Given the description of an element on the screen output the (x, y) to click on. 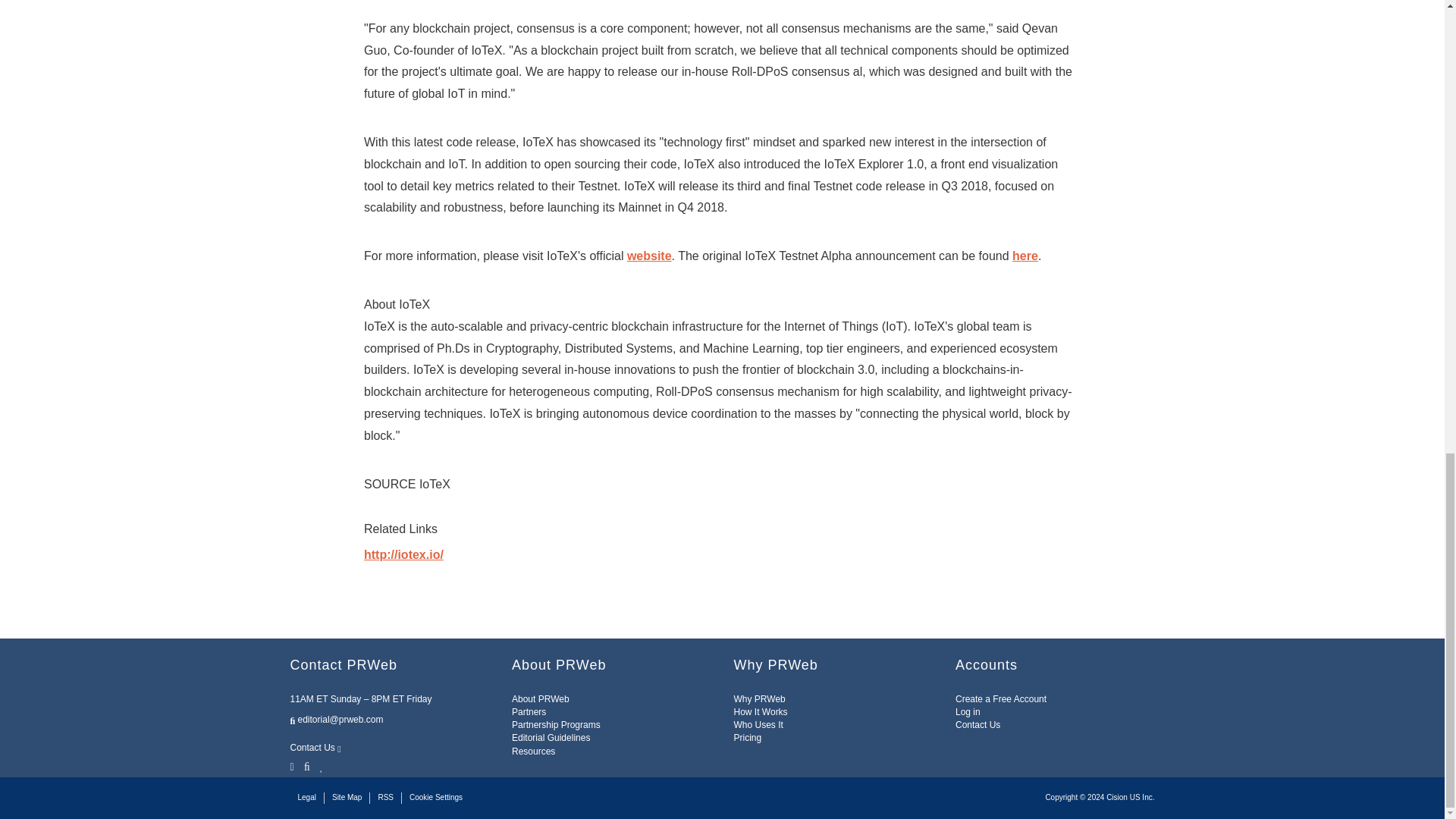
Twitter (293, 765)
Partners (529, 711)
LinkedIn (321, 765)
Editorial Guidelines (550, 737)
Resources (533, 751)
Facebook (306, 765)
Partnership Programs (555, 724)
About PRWeb (540, 698)
